Given the description of an element on the screen output the (x, y) to click on. 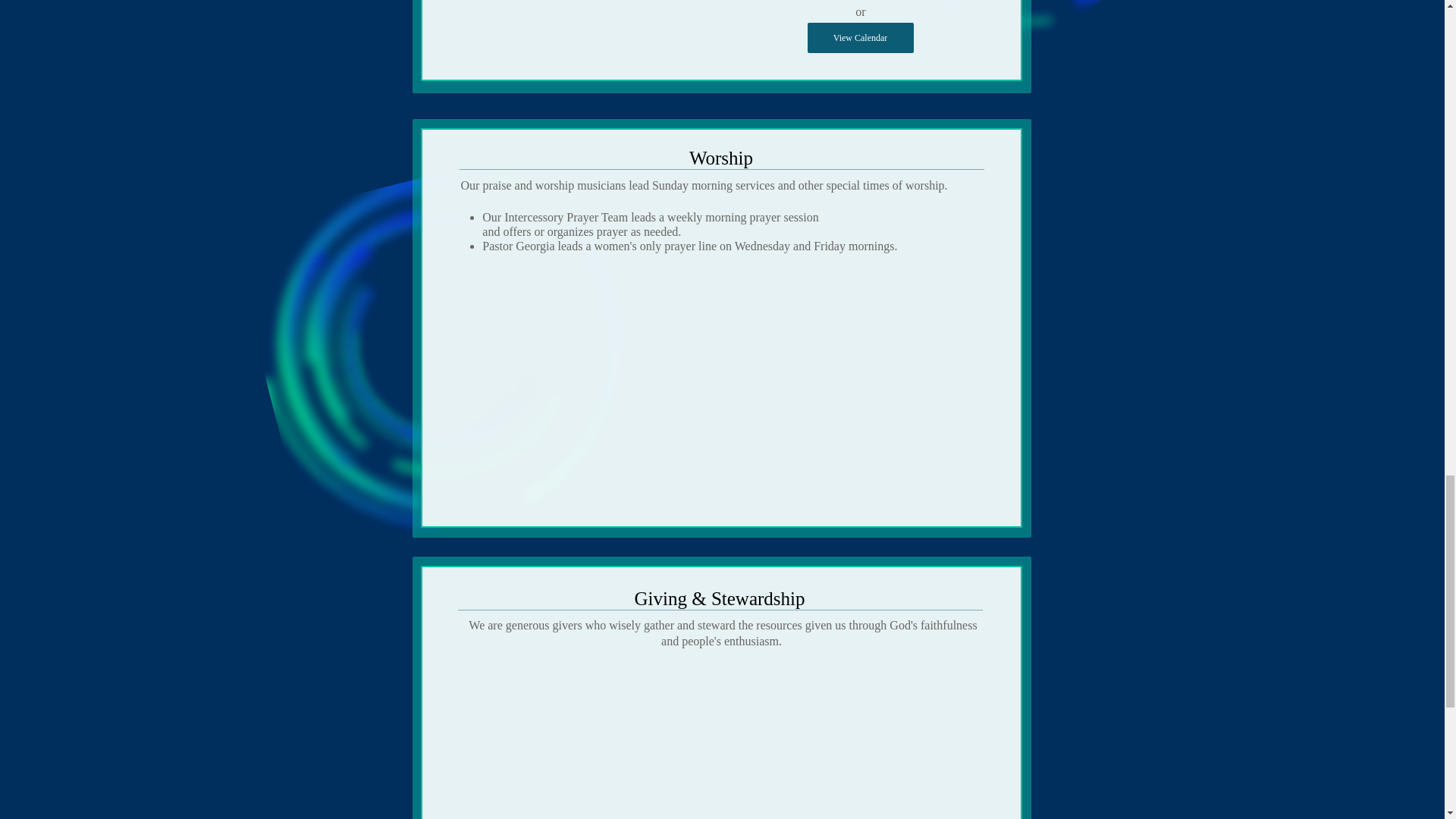
View Calendar (859, 37)
